Given the description of an element on the screen output the (x, y) to click on. 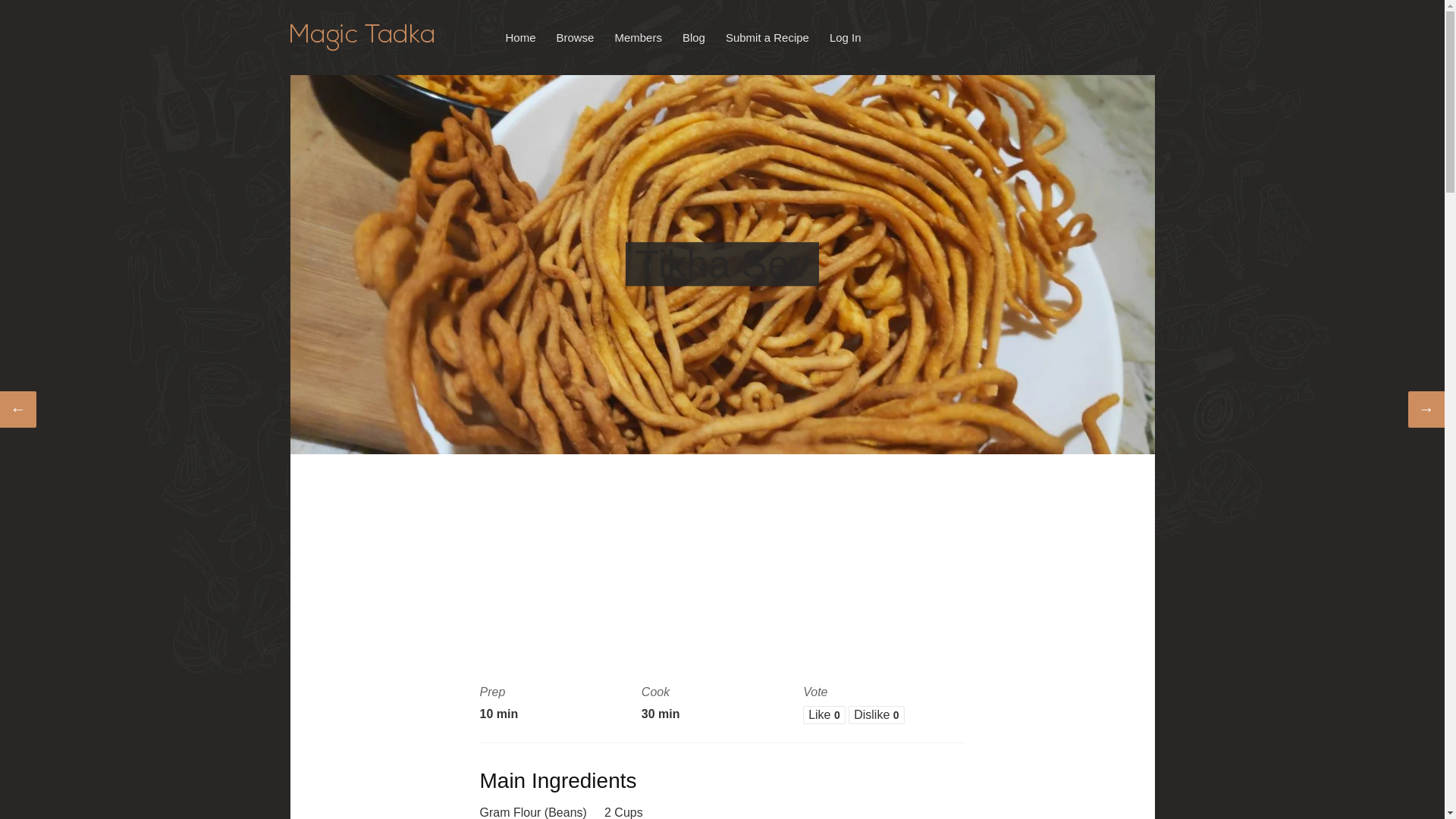
Log In (845, 37)
Members (637, 37)
Dislike 0 (876, 714)
Like 0 (824, 714)
Browse (574, 37)
Submit a Recipe (767, 37)
Blog (694, 37)
Home (520, 37)
